Given the description of an element on the screen output the (x, y) to click on. 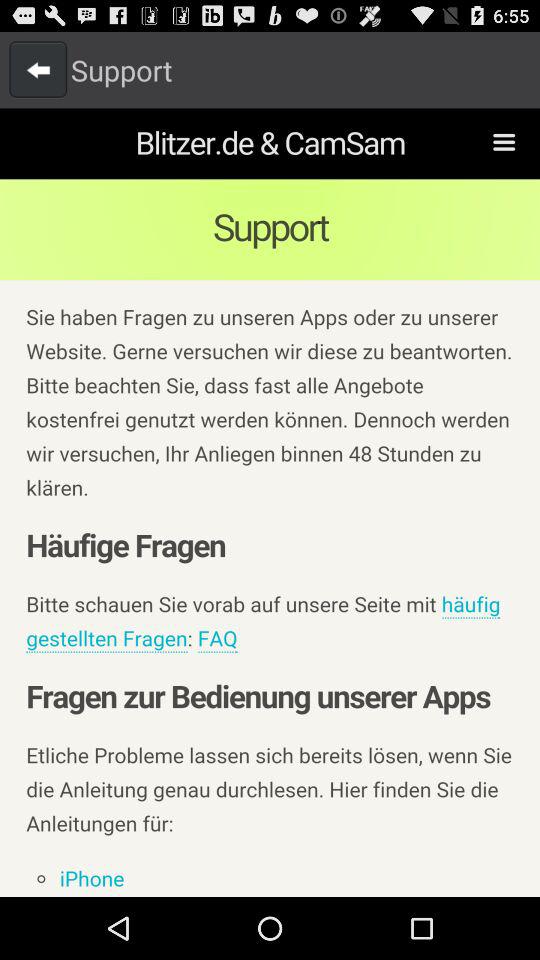
backword option (38, 69)
